Given the description of an element on the screen output the (x, y) to click on. 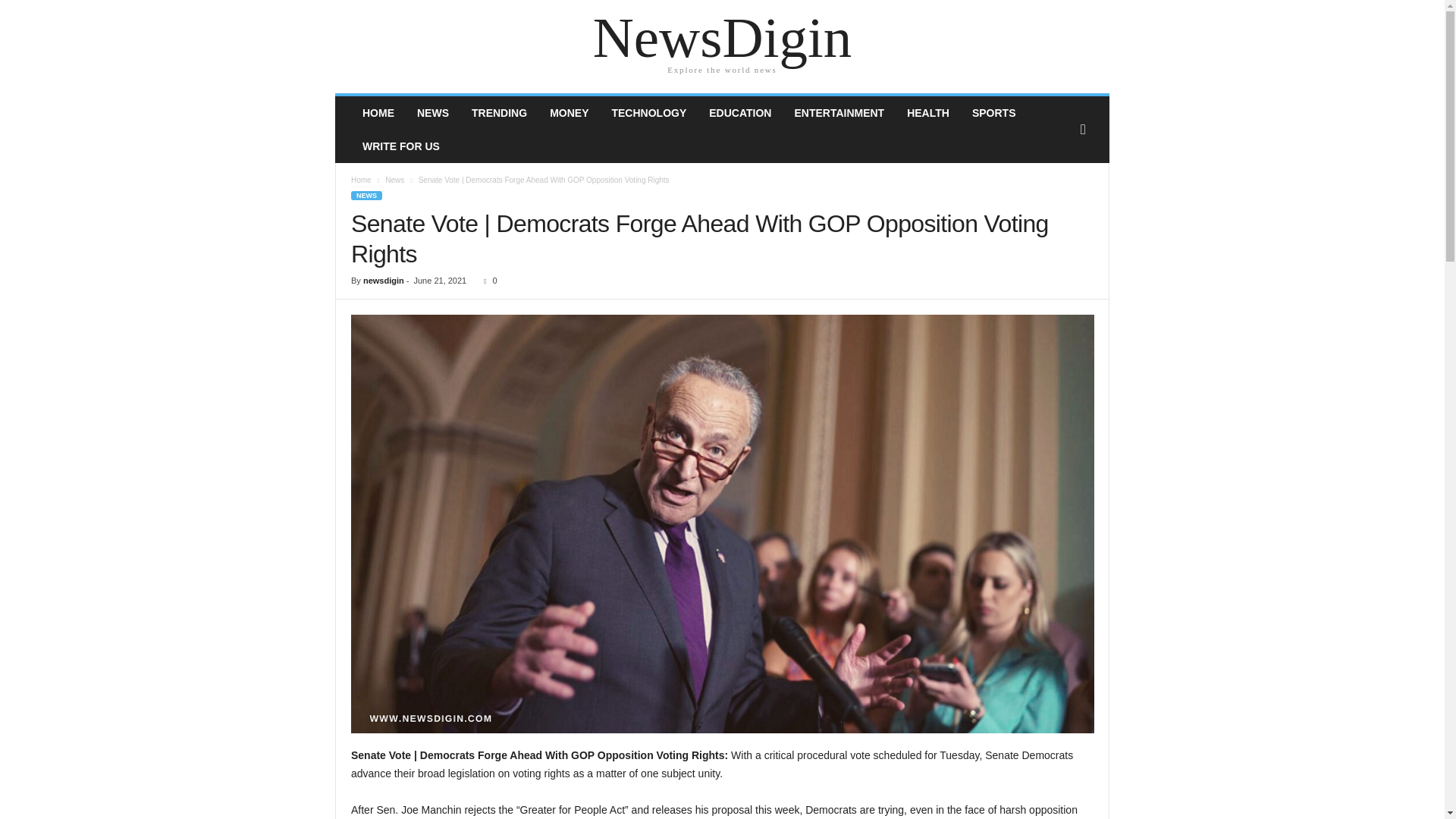
Home (360, 180)
SPORTS (993, 112)
MONEY (568, 112)
NEWS (433, 112)
WRITE FOR US (400, 145)
HEALTH (927, 112)
newsdigin (383, 280)
NEWS (365, 194)
ENTERTAINMENT (839, 112)
NewsDigin (721, 38)
HOME (378, 112)
TECHNOLOGY (648, 112)
TRENDING (499, 112)
View all posts in News (394, 180)
News (394, 180)
